Given the description of an element on the screen output the (x, y) to click on. 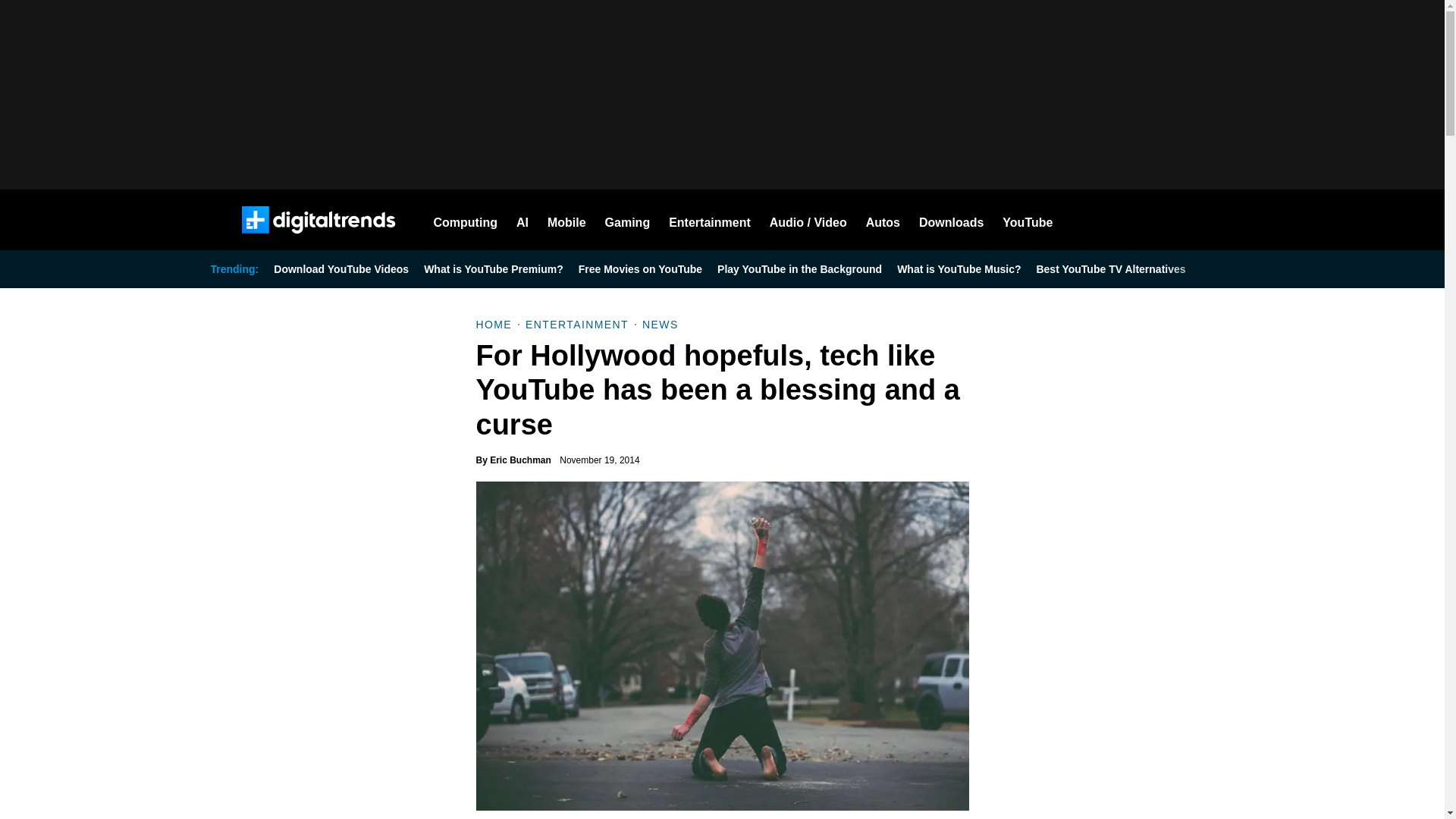
Downloads (951, 219)
Computing (465, 219)
Entertainment (709, 219)
